Given the description of an element on the screen output the (x, y) to click on. 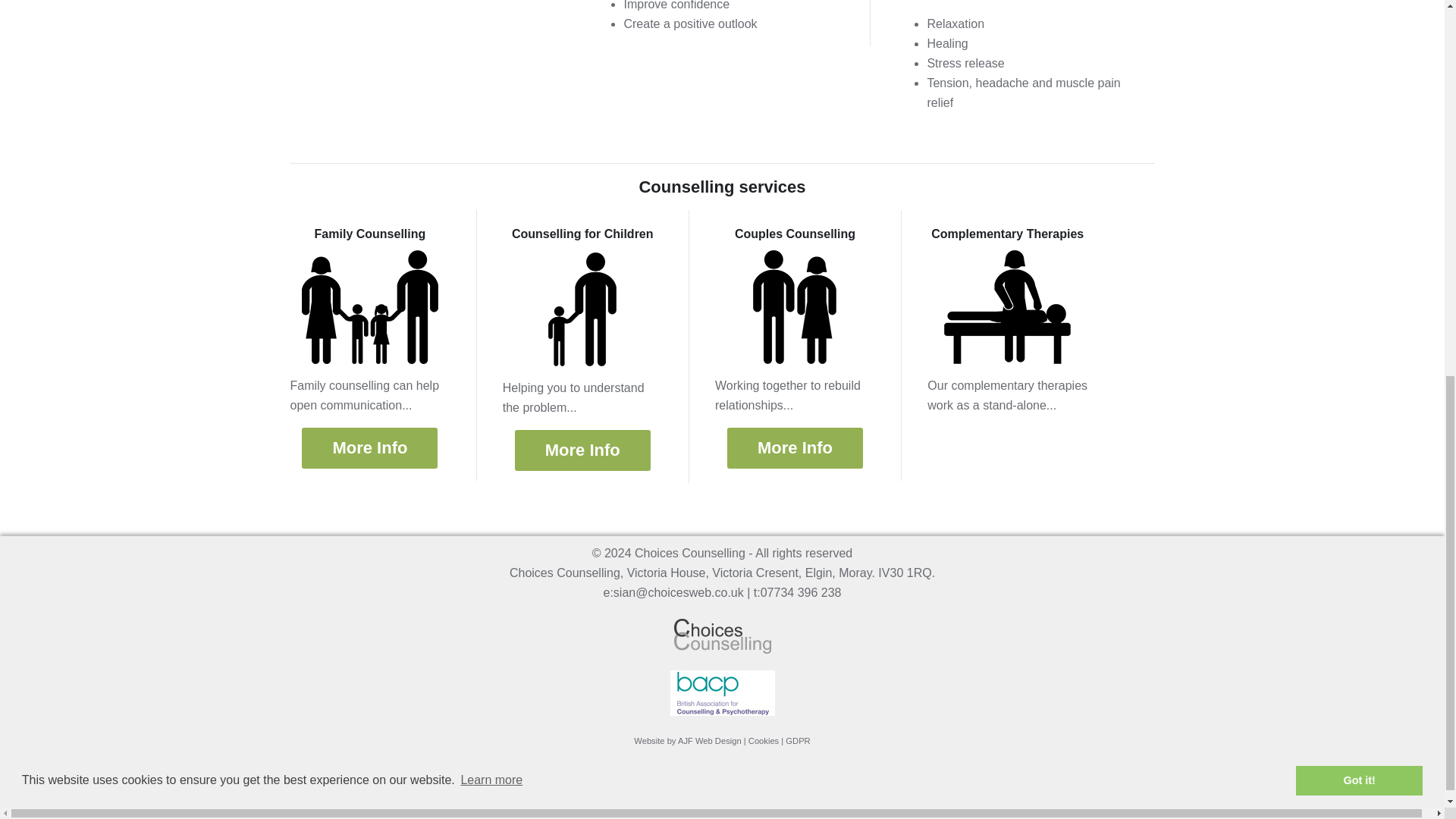
AJF Web Design (709, 740)
GDPR (797, 740)
Cookies (763, 740)
More Info (582, 449)
More Info (369, 447)
More Info (794, 447)
07734 396 238 (800, 592)
Learn more (491, 67)
Got it! (1358, 68)
